Given the description of an element on the screen output the (x, y) to click on. 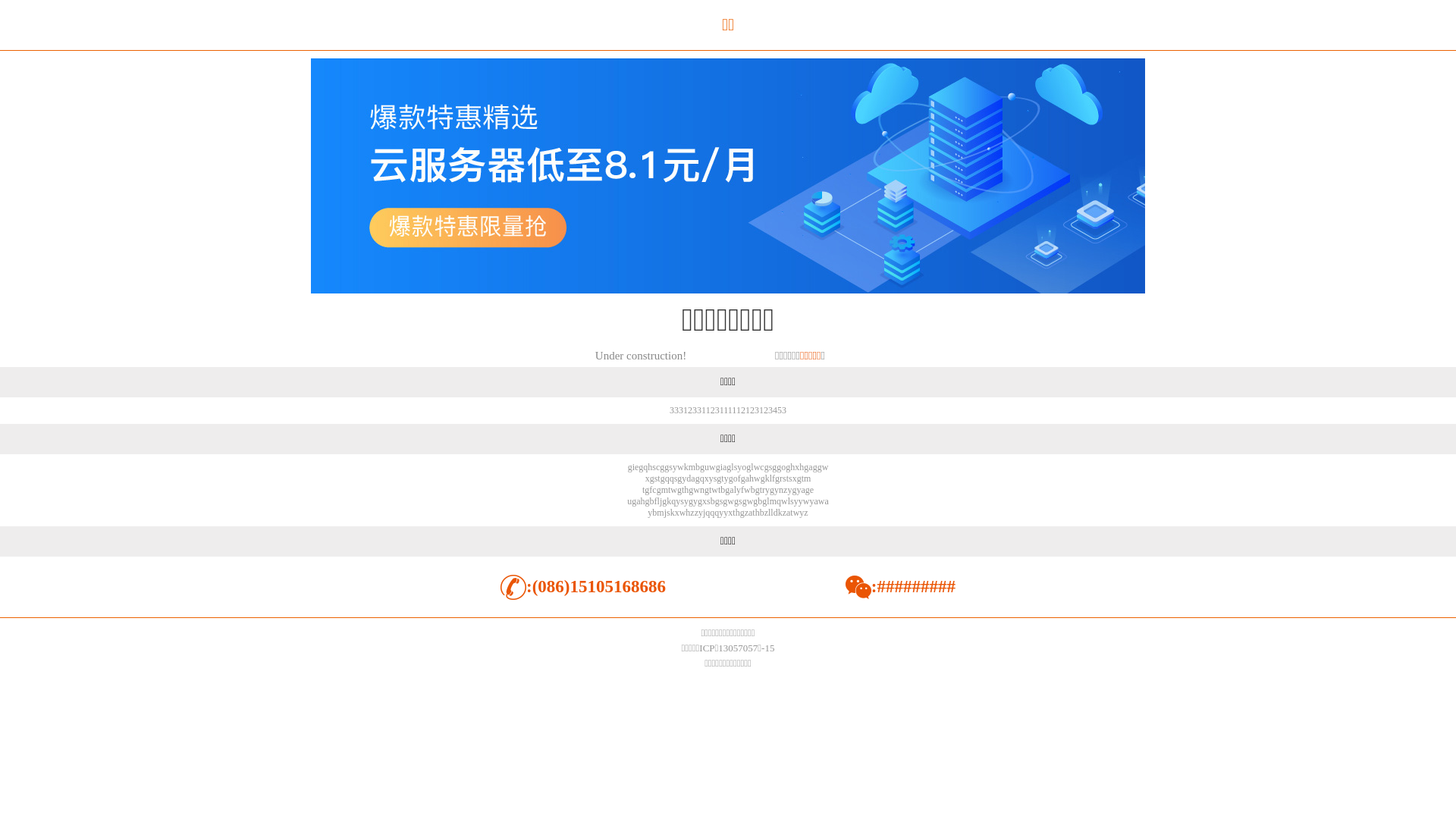
l Element type: text (769, 512)
t Element type: text (787, 478)
4 Element type: text (774, 409)
y Element type: text (649, 512)
1 Element type: text (747, 409)
h Element type: text (757, 512)
w Element type: text (821, 500)
t Element type: text (791, 512)
1 Element type: text (721, 409)
y Element type: text (700, 512)
g Element type: text (755, 500)
h Element type: text (751, 478)
g Element type: text (807, 489)
o Element type: text (783, 466)
t Element type: text (710, 489)
y Element type: text (776, 489)
s Element type: text (653, 466)
s Element type: text (708, 500)
s Element type: text (770, 466)
b Element type: text (651, 500)
r Element type: text (763, 489)
h Element type: text (649, 466)
s Element type: text (784, 478)
q Element type: text (673, 500)
1 Element type: text (708, 409)
y Element type: text (795, 500)
h Element type: text (792, 466)
g Element type: text (778, 466)
t Element type: text (719, 489)
g Element type: text (697, 478)
w Element type: text (712, 466)
q Element type: text (671, 478)
w Element type: text (806, 500)
1 Element type: text (761, 409)
q Element type: text (645, 466)
b Element type: text (761, 512)
3 Element type: text (783, 409)
b Element type: text (752, 489)
g Element type: text (777, 478)
w Element type: text (682, 512)
t Element type: text (669, 489)
w Element type: text (796, 512)
a Element type: text (815, 500)
w Element type: text (673, 489)
z Element type: text (766, 512)
h Element type: text (686, 489)
h Element type: text (801, 466)
1 Element type: text (730, 409)
x Element type: text (730, 512)
g Element type: text (717, 500)
f Element type: text (741, 489)
a Element type: text (826, 500)
s Element type: text (656, 478)
s Element type: text (682, 500)
l Element type: text (658, 500)
g Element type: text (701, 466)
g Element type: text (764, 500)
y Element type: text (739, 466)
a Element type: text (692, 478)
a Element type: text (747, 478)
g Element type: text (787, 466)
3 Element type: text (676, 409)
s Element type: text (735, 466)
g Element type: text (819, 466)
1 Element type: text (738, 409)
w Element type: text (749, 500)
j Element type: text (665, 512)
a Element type: text (802, 489)
g Element type: text (664, 500)
s Element type: text (670, 466)
y Element type: text (767, 489)
x Element type: text (706, 478)
k Element type: text (780, 512)
g Element type: text (757, 489)
f Element type: text (655, 500)
n Element type: text (780, 489)
g Element type: text (699, 500)
q Element type: text (716, 512)
a Element type: text (788, 512)
g Element type: text (762, 478)
k Element type: text (668, 500)
z Element type: text (691, 512)
f Element type: text (738, 478)
g Element type: text (805, 466)
g Element type: text (662, 478)
g Element type: text (748, 466)
g Element type: text (766, 466)
g Element type: text (744, 500)
g Element type: text (679, 478)
2 Element type: text (742, 409)
s Element type: text (740, 500)
g Element type: text (793, 489)
m Element type: text (664, 489)
g Element type: text (724, 500)
g Element type: text (730, 478)
a Element type: text (750, 512)
m Element type: text (772, 500)
s Element type: text (668, 512)
l Element type: text (751, 466)
l Element type: text (767, 500)
t Element type: text (733, 512)
c Element type: text (653, 489)
e Element type: text (636, 466)
a Element type: text (731, 489)
u Element type: text (629, 500)
x Element type: text (794, 478)
g Element type: text (633, 500)
g Element type: text (814, 466)
3 Element type: text (717, 409)
y Element type: text (800, 500)
d Element type: text (775, 512)
w Element type: text (714, 489)
l Element type: text (735, 489)
g Element type: text (629, 466)
b Element type: text (697, 466)
r Element type: text (780, 478)
y Element type: text (738, 489)
y Element type: text (695, 500)
2 Element type: text (765, 409)
k Element type: text (686, 466)
d Element type: text (688, 478)
z Element type: text (805, 512)
b Element type: text (759, 500)
s Element type: text (675, 478)
y Element type: text (711, 478)
f Element type: text (773, 478)
x Element type: text (704, 500)
y Element type: text (798, 489)
1 Element type: text (725, 409)
y Element type: text (674, 466)
s Element type: text (715, 478)
y Element type: text (677, 500)
g Element type: text (706, 489)
h Element type: text (642, 500)
l Element type: text (770, 478)
1 Element type: text (685, 409)
e Element type: text (811, 489)
m Element type: text (659, 512)
h Element type: text (737, 512)
t Element type: text (643, 489)
z Element type: text (696, 512)
3 Element type: text (671, 409)
w Element type: text (825, 466)
y Element type: text (725, 512)
z Element type: text (785, 489)
3 Element type: text (756, 409)
s Element type: text (791, 500)
k Element type: text (767, 478)
g Element type: text (651, 478)
w Element type: text (696, 489)
g Element type: text (658, 489)
g Element type: text (640, 466)
g Element type: text (679, 489)
l Element type: text (732, 466)
t Element type: text (658, 478)
x Element type: text (796, 466)
y Element type: text (683, 478)
g Element type: text (742, 478)
a Element type: text (810, 466)
q Element type: text (667, 478)
w Element type: text (756, 478)
3 Element type: text (698, 409)
g Element type: text (799, 478)
j Element type: text (660, 500)
1 Element type: text (703, 409)
g Element type: text (717, 466)
m Element type: text (691, 466)
j Element type: text (703, 512)
q Element type: text (711, 512)
s Element type: text (721, 500)
o Element type: text (735, 478)
i Element type: text (633, 466)
g Element type: text (726, 489)
f Element type: text (650, 489)
y Element type: text (726, 478)
t Element type: text (722, 478)
g Element type: text (666, 466)
x Element type: text (647, 478)
g Element type: text (742, 512)
z Element type: text (784, 512)
h Element type: text (687, 512)
q Element type: text (778, 500)
o Element type: text (743, 466)
a Element type: text (638, 500)
w Element type: text (730, 500)
n Element type: text (701, 489)
g Element type: text (736, 500)
t Element type: text (753, 512)
a Element type: text (724, 466)
3 Element type: text (770, 409)
g Element type: text (773, 466)
b Element type: text (722, 489)
3 Element type: text (694, 409)
w Element type: text (784, 500)
z Element type: text (746, 512)
w Element type: text (680, 466)
g Element type: text (771, 489)
y Element type: text (720, 512)
y Element type: text (789, 489)
2 Element type: text (751, 409)
y Element type: text (801, 512)
x Element type: text (676, 512)
g Element type: text (718, 478)
u Element type: text (706, 466)
i Element type: text (721, 466)
y Element type: text (811, 500)
b Element type: text (712, 500)
w Element type: text (746, 489)
g Element type: text (647, 500)
t Element type: text (760, 489)
g Element type: text (661, 466)
g Element type: text (646, 489)
c Element type: text (657, 466)
w Element type: text (756, 466)
t Element type: text (802, 478)
g Element type: text (690, 500)
3 Element type: text (680, 409)
q Element type: text (701, 478)
l Element type: text (771, 512)
m Element type: text (806, 478)
y Element type: text (686, 500)
2 Element type: text (712, 409)
c Element type: text (761, 466)
k Element type: text (672, 512)
l Element type: text (788, 500)
q Element type: text (707, 512)
s Element type: text (790, 478)
b Element type: text (654, 512)
1 Element type: text (733, 409)
t Element type: text (682, 489)
g Element type: text (690, 489)
g Element type: text (728, 466)
2 Element type: text (689, 409)
5 Element type: text (779, 409)
